Given the description of an element on the screen output the (x, y) to click on. 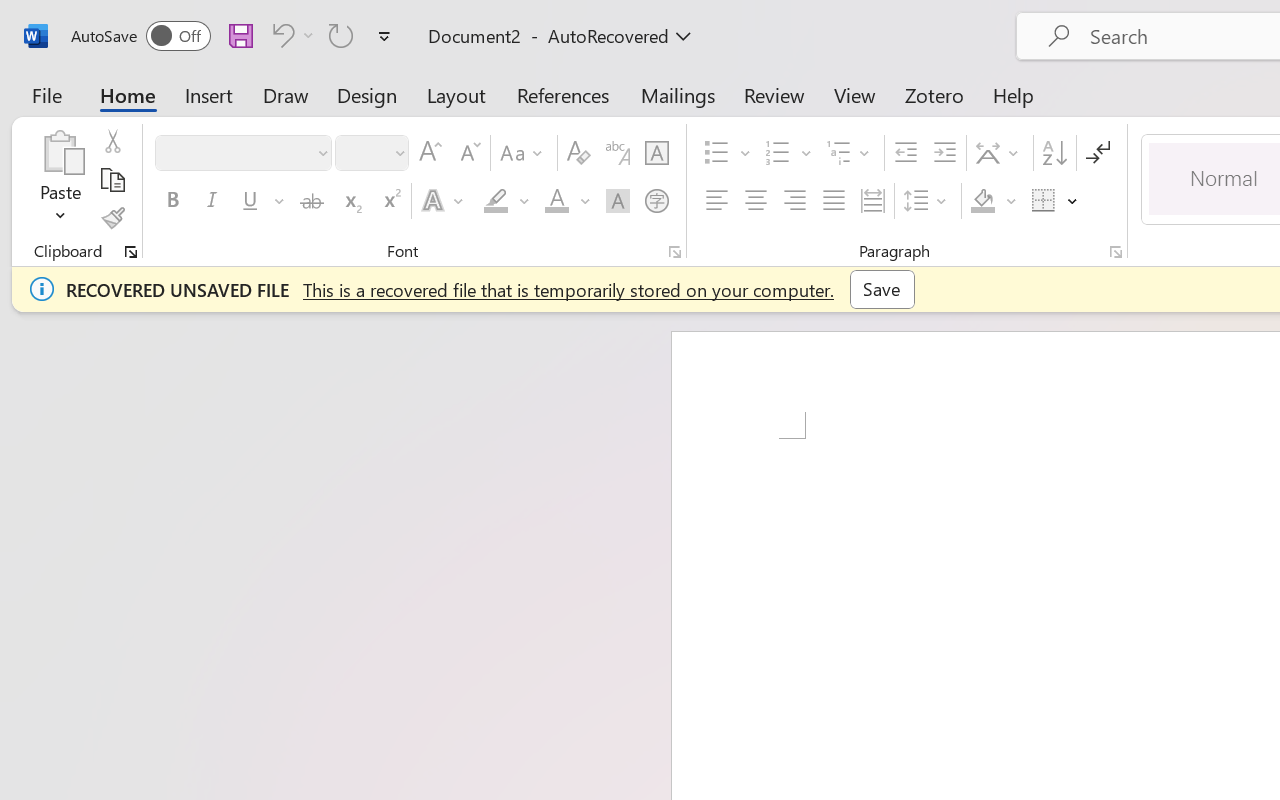
Show/Hide Editing Marks (1098, 153)
Distributed (872, 201)
Font... (675, 252)
Paragraph... (1115, 252)
Character Shading (618, 201)
Increase Indent (944, 153)
Justify (834, 201)
